Given the description of an element on the screen output the (x, y) to click on. 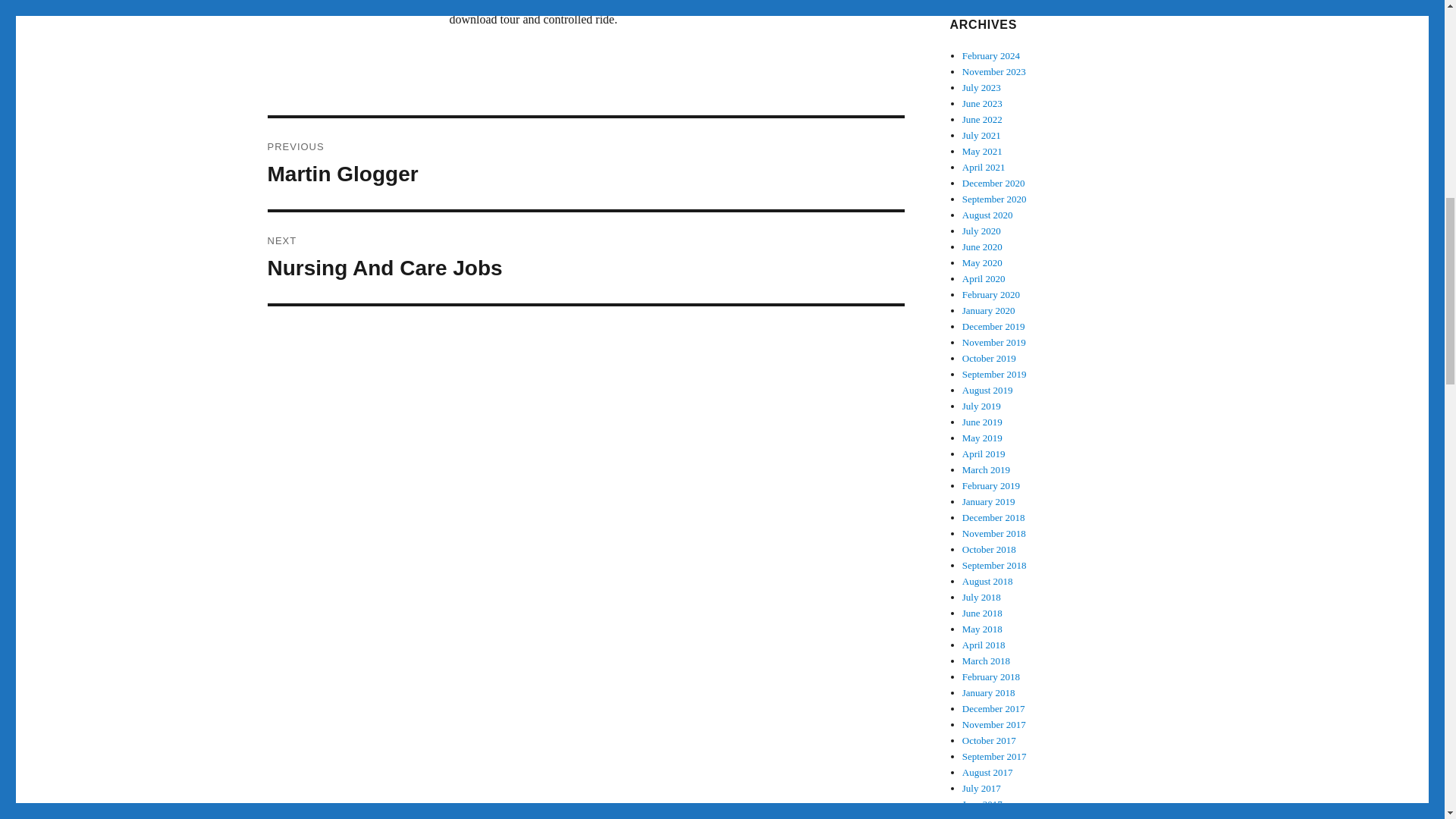
April 2020 (984, 278)
November 2019 (994, 342)
July 2019 (981, 405)
August 2019 (987, 389)
February 2020 (991, 294)
July 2021 (981, 134)
December 2019 (993, 326)
April 2021 (984, 166)
July 2020 (981, 230)
February 2024 (991, 55)
